Given the description of an element on the screen output the (x, y) to click on. 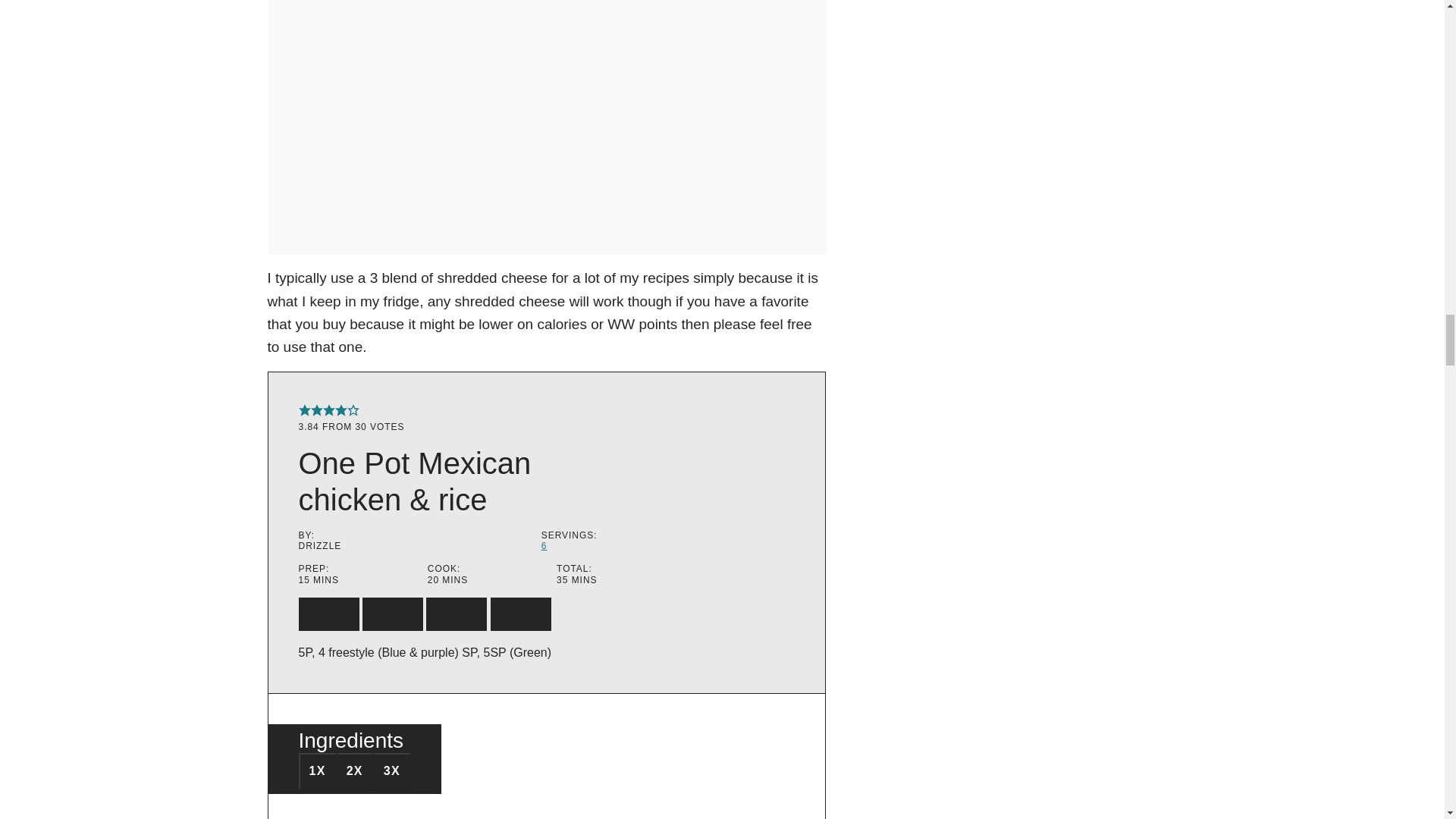
1X (317, 770)
2X (355, 770)
3X (392, 770)
